Given the description of an element on the screen output the (x, y) to click on. 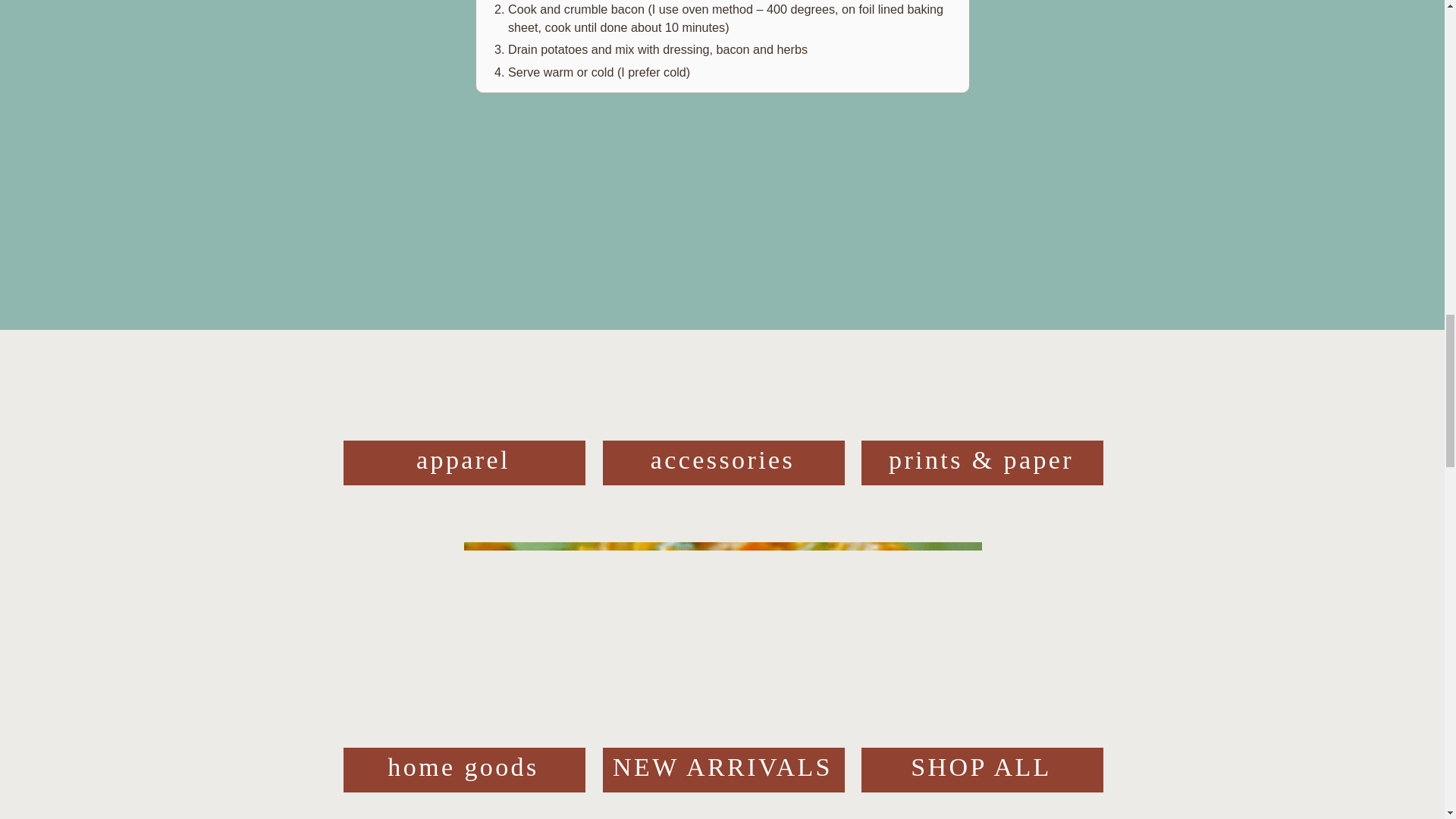
apparel (463, 462)
home goods (463, 769)
accessories (723, 462)
NEW ARRIVALS (723, 769)
SHOP ALL (981, 769)
